Given the description of an element on the screen output the (x, y) to click on. 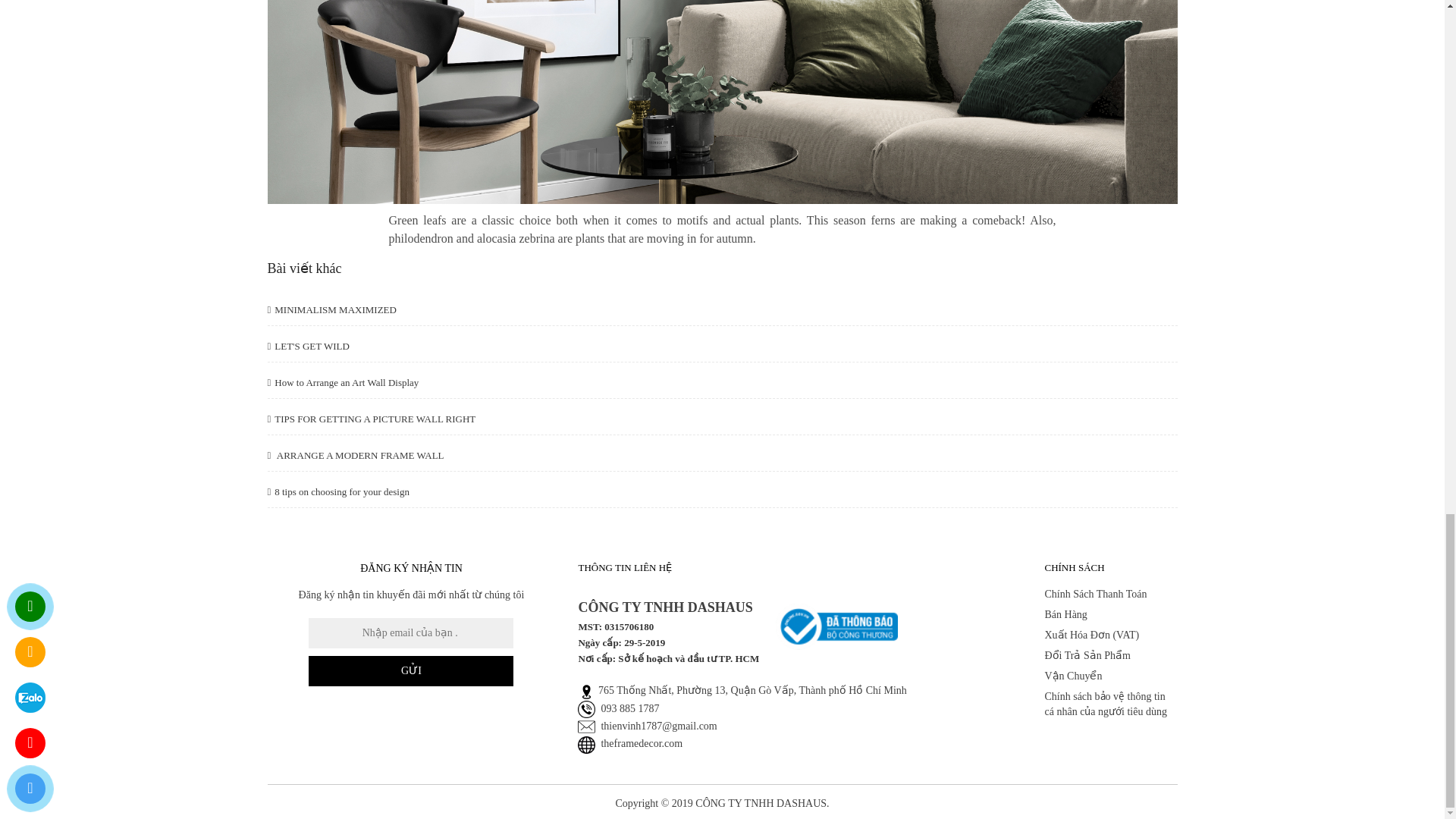
 ARRANGE A MODERN FRAME WALL (355, 455)
LET'S GET WILD (307, 346)
TIPS FOR GETTING A PICTURE WALL RIGHT (371, 419)
How to Arrange an Art Wall Display (342, 382)
MINIMALISM MAXIMIZED (331, 309)
8 tips on choosing for your design (337, 491)
